Given the description of an element on the screen output the (x, y) to click on. 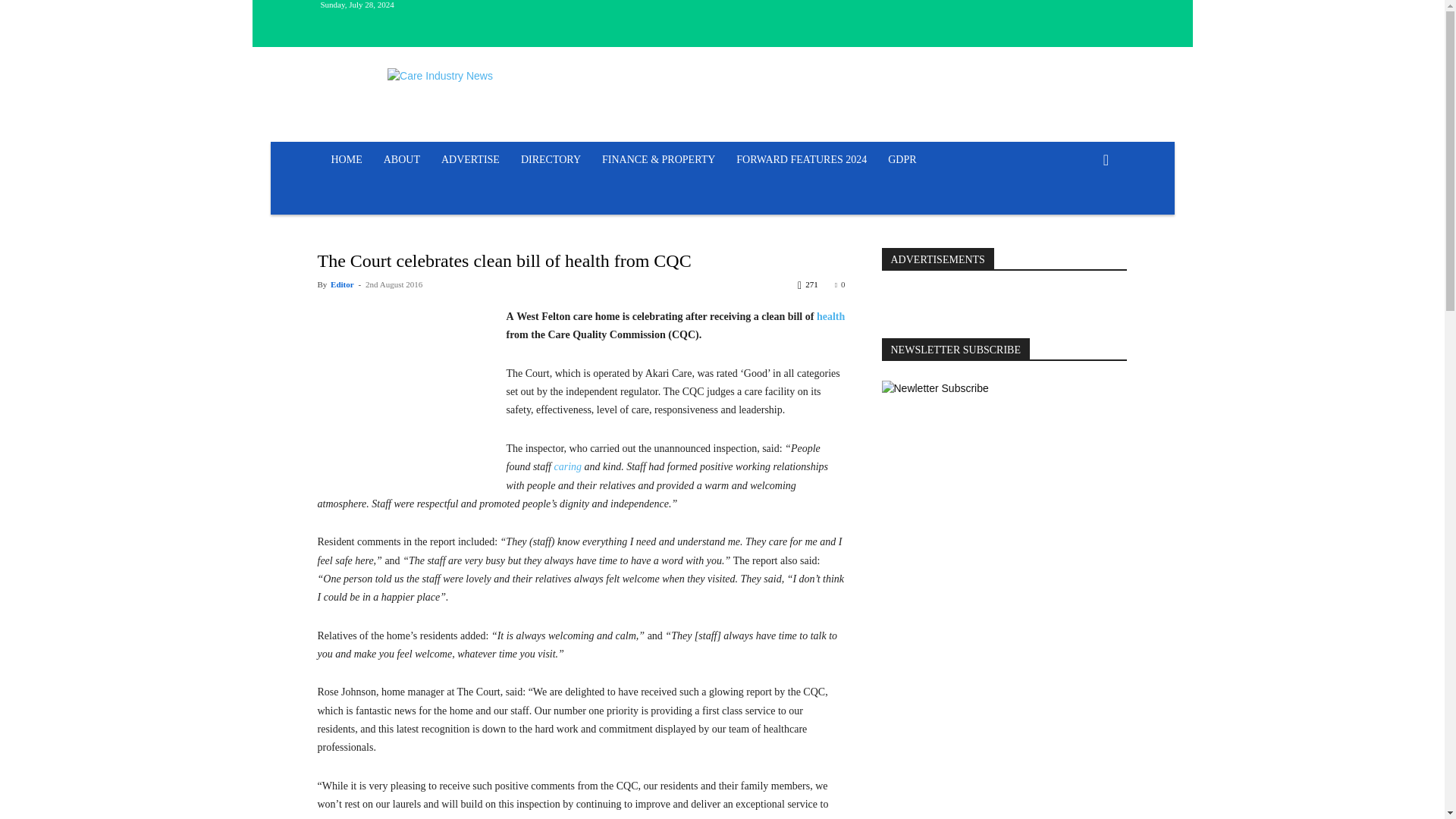
FORWARD FEATURES 2024 (801, 159)
Editor (341, 284)
ABOUT (401, 159)
HOME (346, 159)
caring (568, 466)
GDPR (901, 159)
ADVERTISE (470, 159)
0 (839, 284)
DIRECTORY (551, 159)
health (830, 316)
Care Industry News (440, 75)
